Given the description of an element on the screen output the (x, y) to click on. 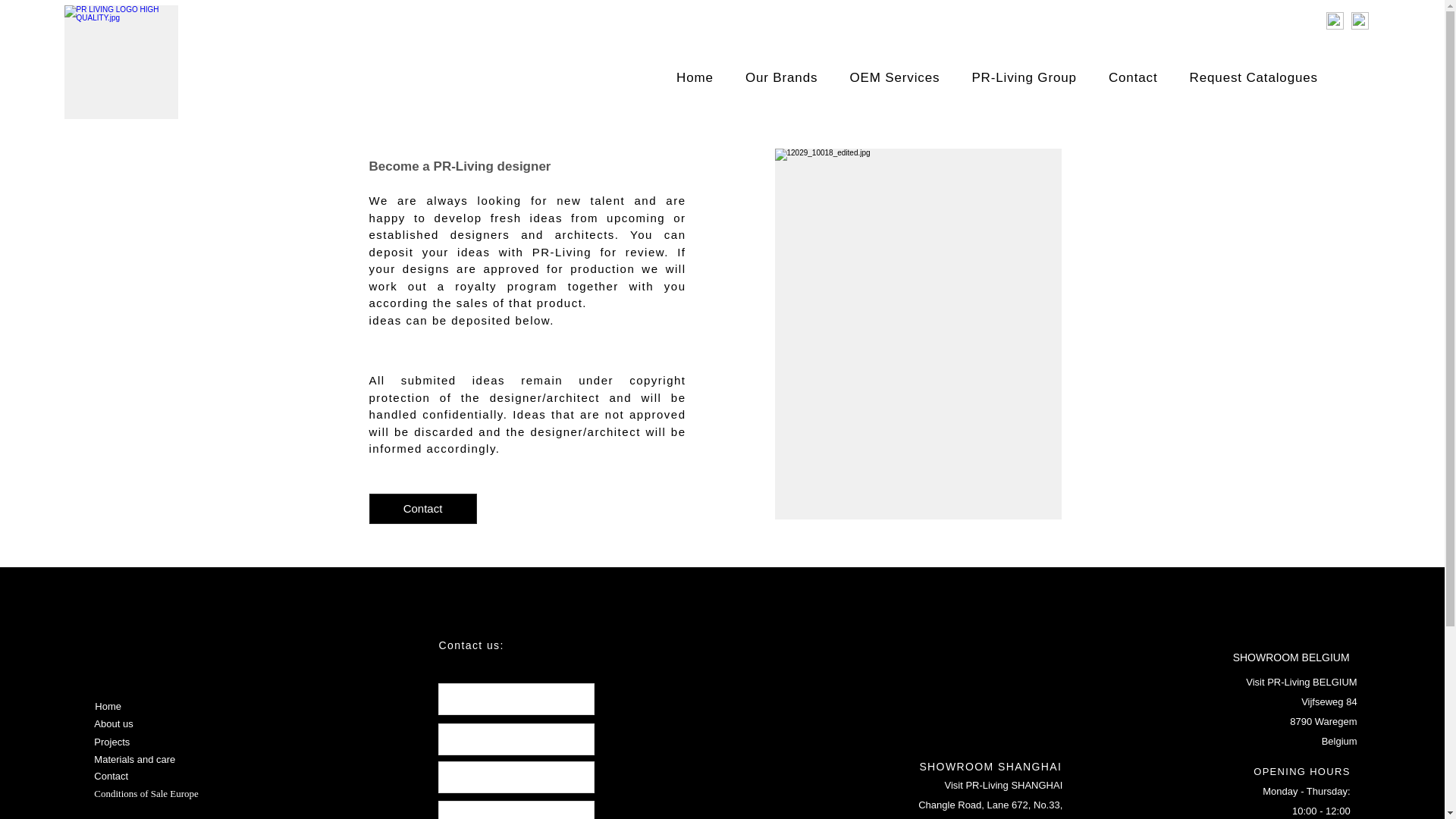
Projects (146, 742)
About us (146, 724)
Home (146, 706)
3D Database (1205, 19)
Contact (124, 776)
Conditions of Sale Europe  (147, 793)
Materials and care (146, 759)
Contact (422, 508)
OEM Services (893, 78)
Home (694, 78)
